Given the description of an element on the screen output the (x, y) to click on. 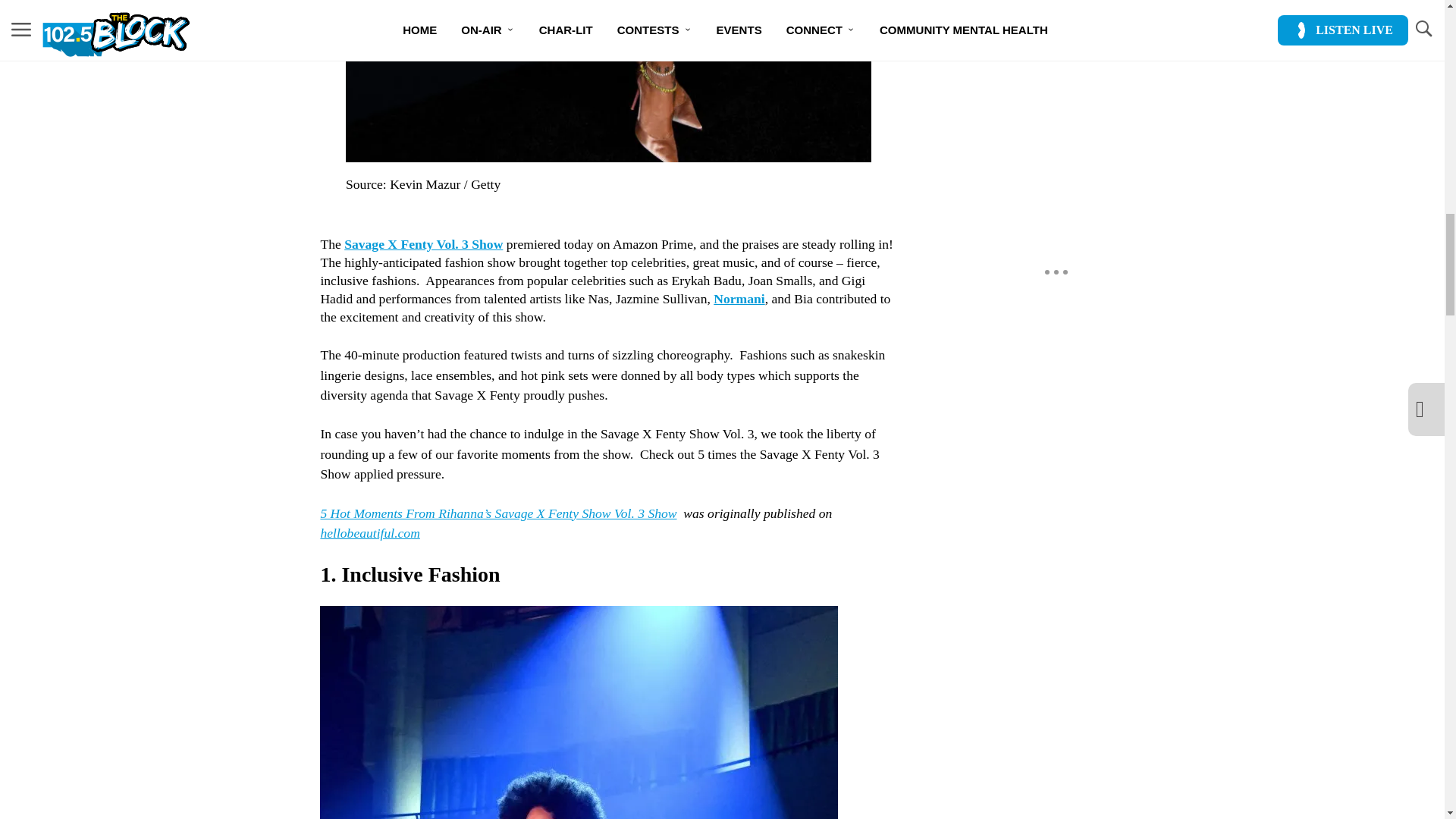
Normani (738, 298)
Savage X Fenty Vol. 3 Show (422, 243)
hellobeautiful.com (369, 532)
